Given the description of an element on the screen output the (x, y) to click on. 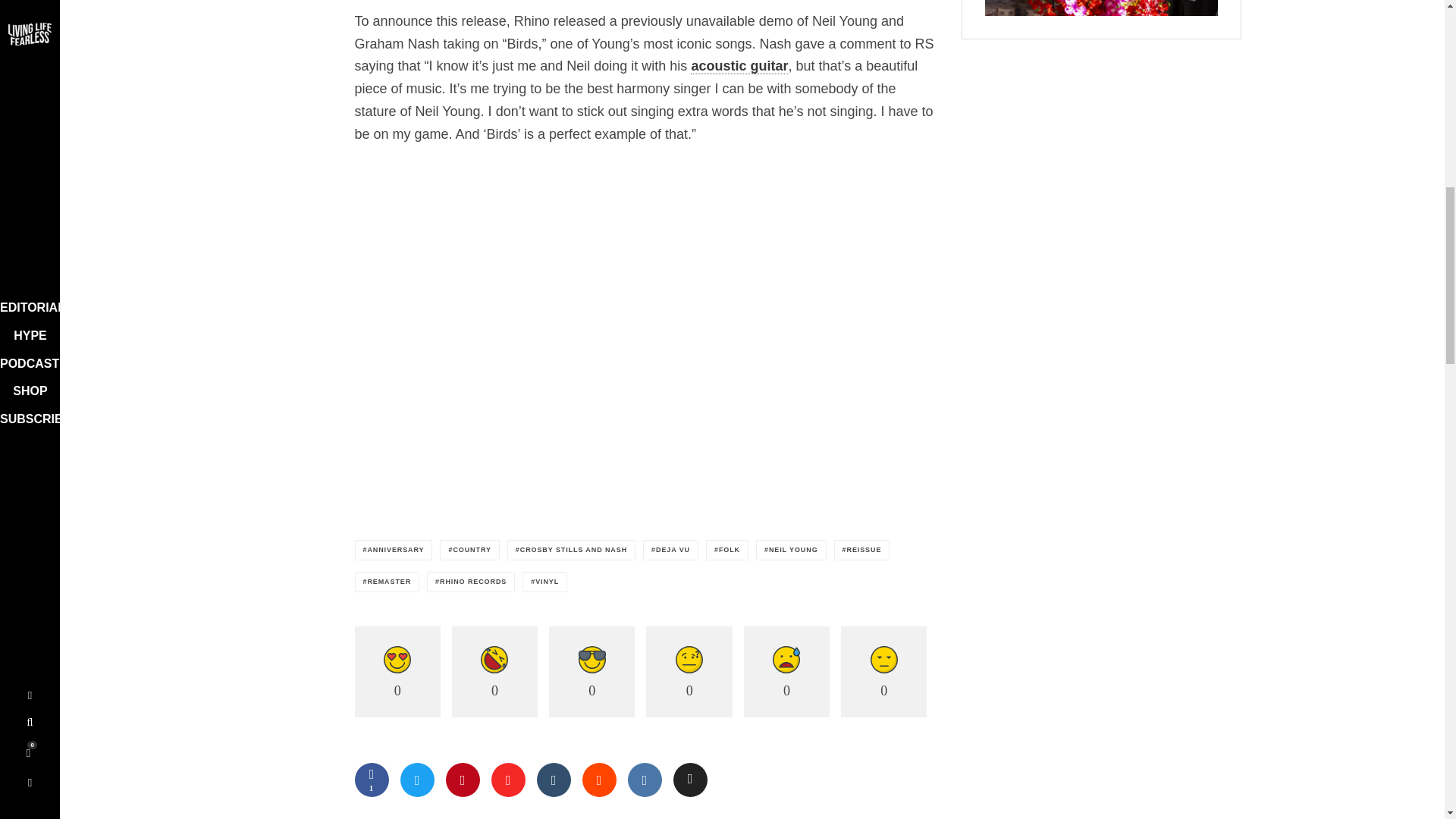
ANNIVERSARY (393, 549)
COUNTRY (469, 549)
RHINO RECORDS (470, 581)
REMASTER (387, 581)
VINYL (544, 581)
NEIL YOUNG (791, 549)
CROSBY STILLS AND NASH (570, 549)
REISSUE (861, 549)
FOLK (727, 549)
0 (398, 671)
